Given the description of an element on the screen output the (x, y) to click on. 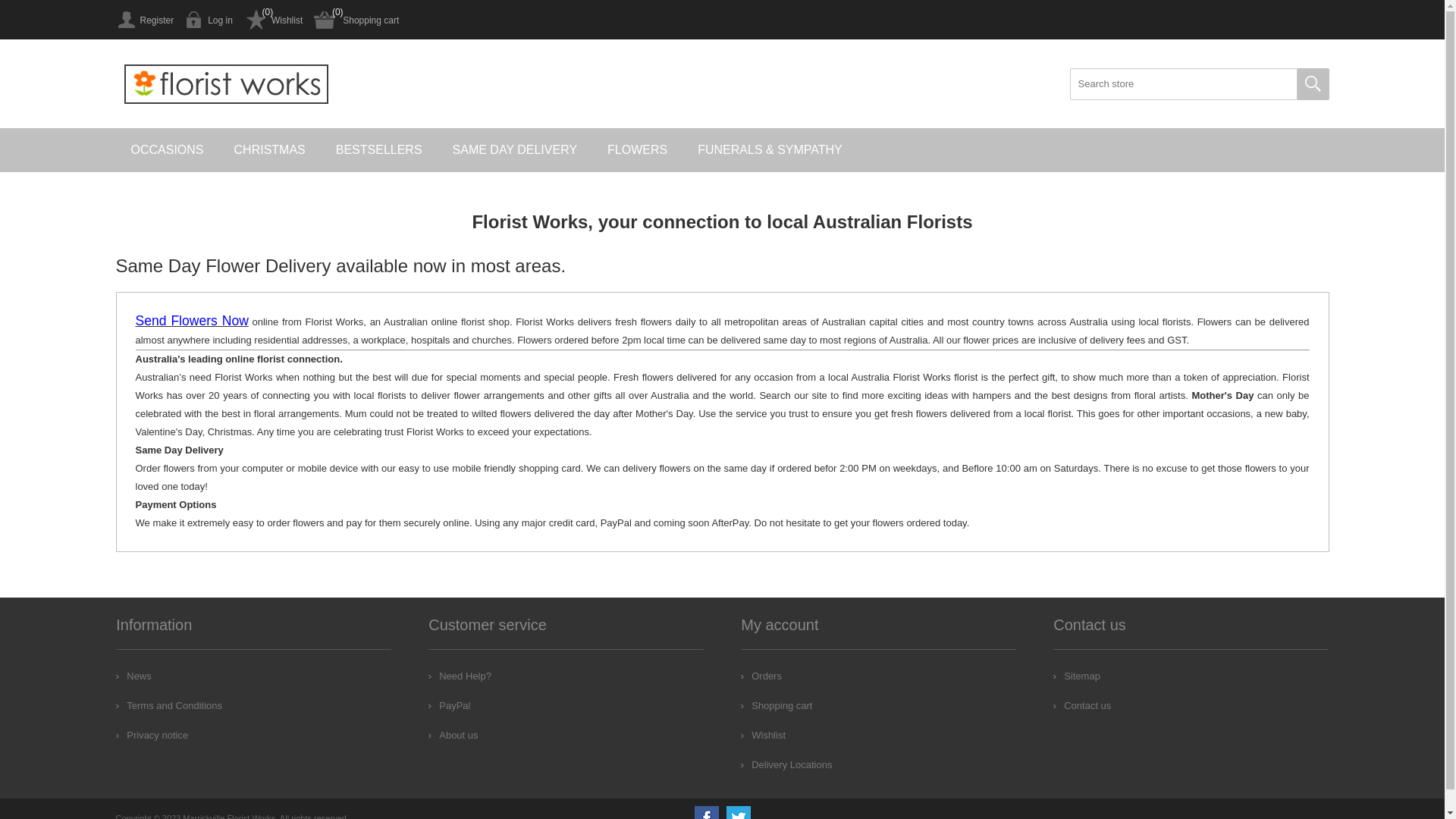
News Element type: text (133, 675)
Privacy notice Element type: text (152, 734)
Orders Element type: text (760, 675)
Wishlist Element type: text (762, 734)
Shopping cart Element type: text (776, 705)
Wishlist Element type: text (273, 19)
Log in Element type: text (208, 19)
Search Element type: text (1312, 84)
Register Element type: text (144, 19)
About us Element type: text (452, 734)
Send Flowers Now Element type: text (190, 321)
FUNERALS & SYMPATHY Element type: text (769, 150)
Contact us Element type: text (1081, 705)
Need Help? Element type: text (459, 675)
Sitemap Element type: text (1076, 675)
BESTSELLERS Element type: text (378, 150)
FLOWERS Element type: text (637, 150)
Terms and Conditions Element type: text (169, 705)
CHRISTMAS Element type: text (269, 150)
Shopping cart Element type: text (355, 19)
OCCASIONS Element type: text (166, 150)
SAME DAY DELIVERY Element type: text (515, 150)
Delivery Locations Element type: text (785, 764)
PayPal Element type: text (449, 705)
